Given the description of an element on the screen output the (x, y) to click on. 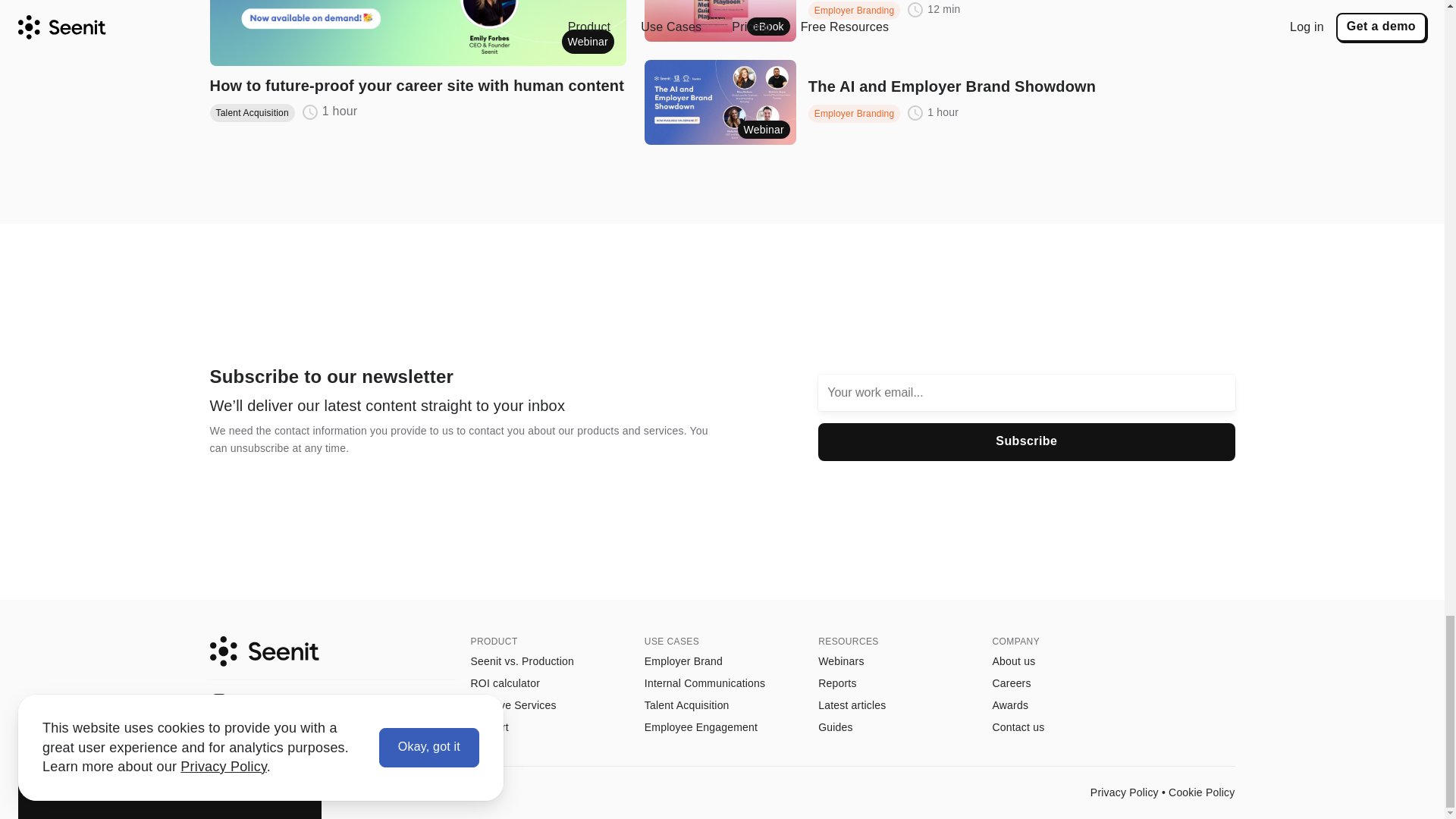
How to future-proof your career site with human content (417, 85)
Subscribe (1026, 442)
eBook (720, 20)
Talent Acquisition (251, 112)
Webinar (417, 33)
